Given the description of an element on the screen output the (x, y) to click on. 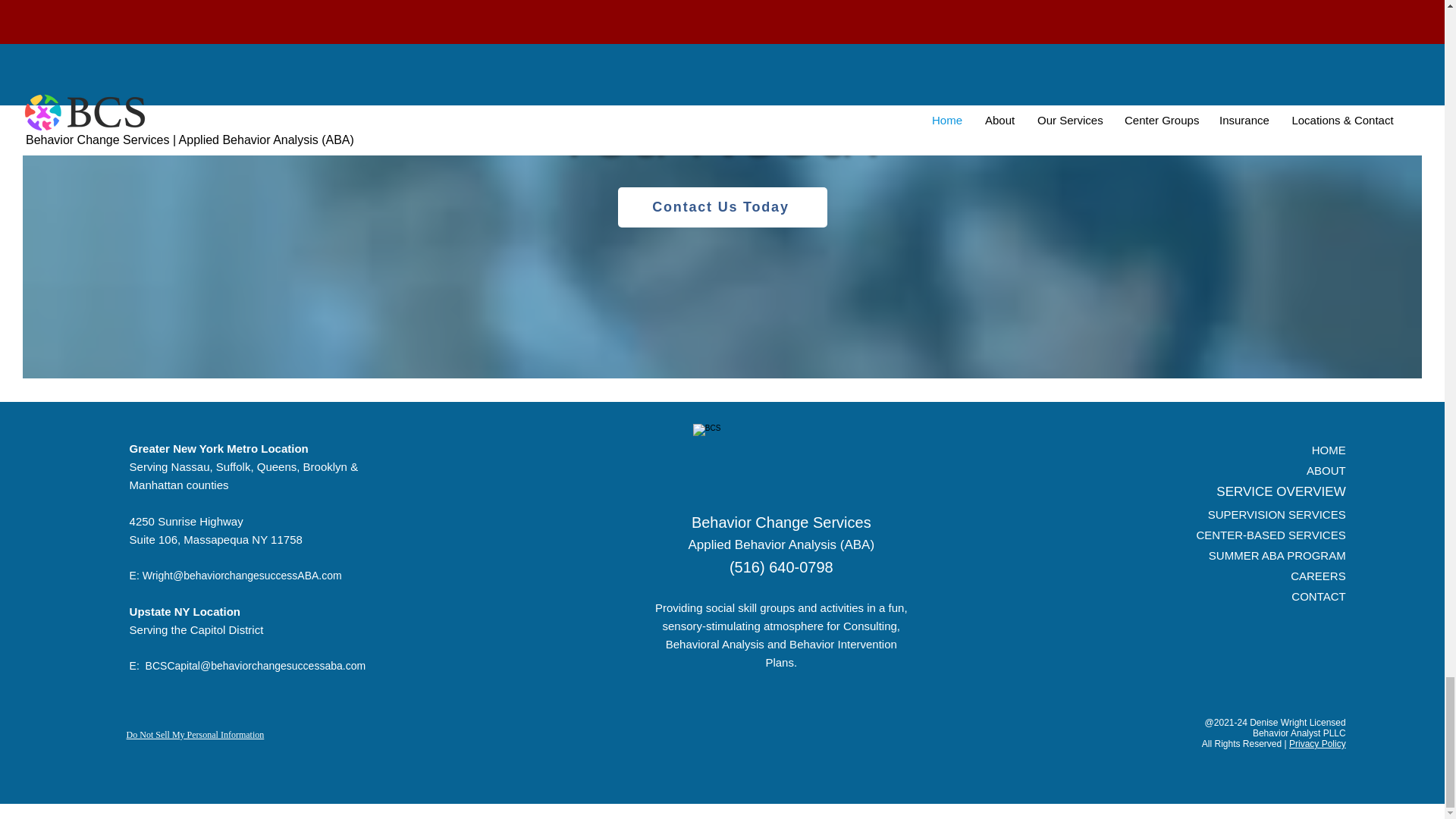
E:   (137, 665)
Contact Us Today (722, 207)
HOME (1328, 449)
iorchangesuccessABA.com (276, 575)
SERVICE OVERVIEW (1280, 491)
Do Not Sell My Personal Information (195, 735)
ABOUT (1325, 470)
